Given the description of an element on the screen output the (x, y) to click on. 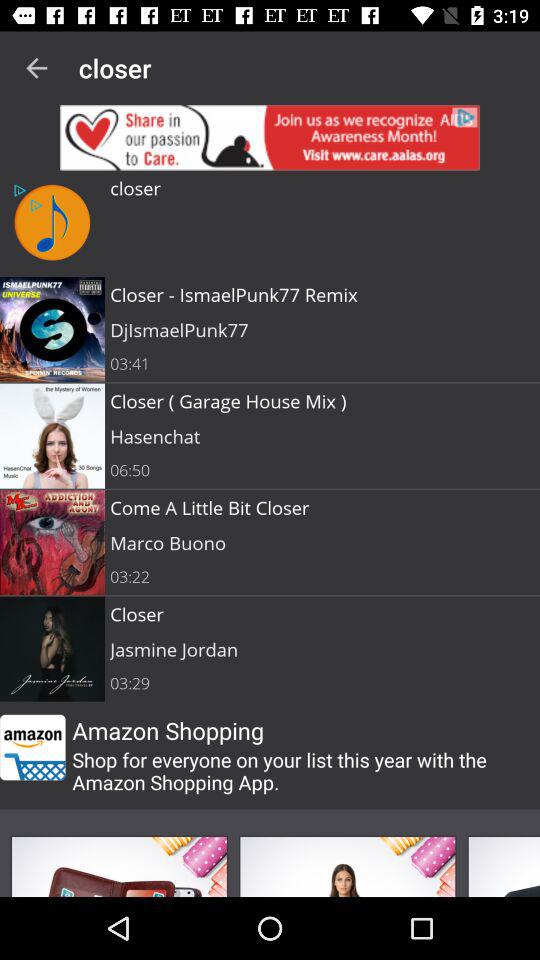
amazon icon (32, 747)
